Given the description of an element on the screen output the (x, y) to click on. 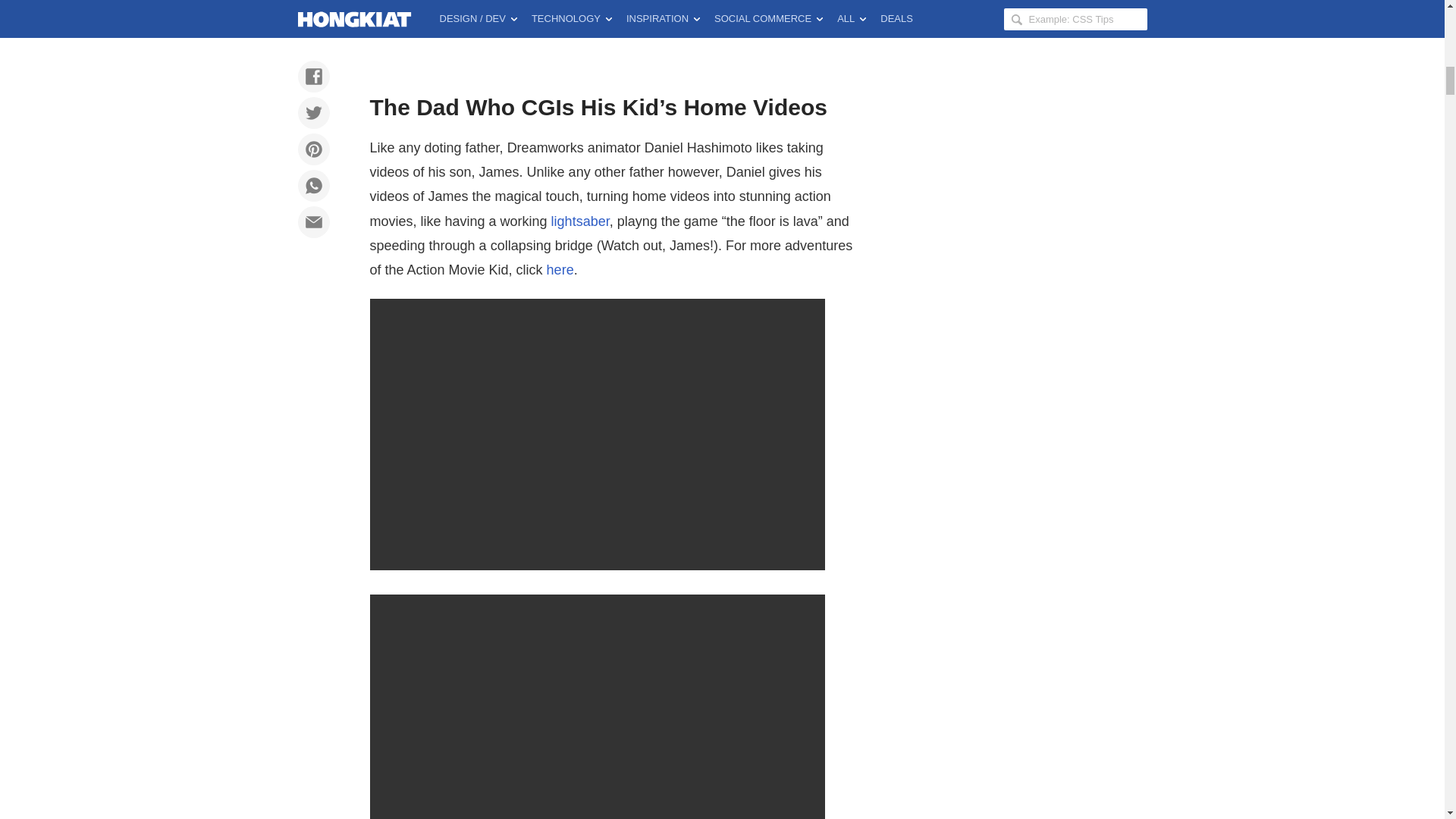
lightsaber (580, 221)
here (560, 269)
